Given the description of an element on the screen output the (x, y) to click on. 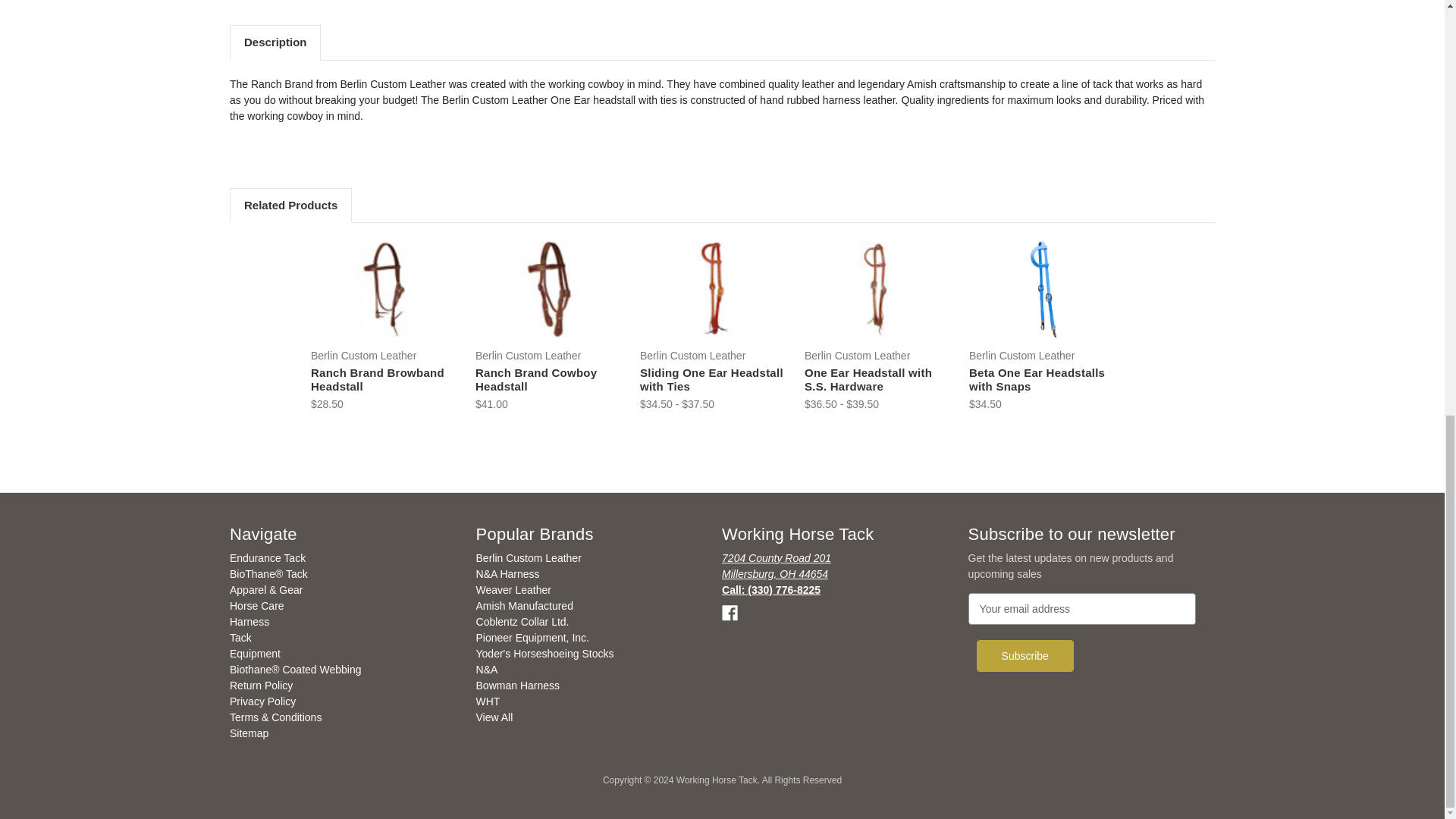
One Ear Headstall with S.S. Hardware (878, 288)
Subscribe (1025, 655)
Ranch Brand Cowboy Headstall (549, 288)
Sliding One Ear Headstall with Ties (714, 288)
Ranch Brand Browband Headstall (385, 288)
Beta One Ear Headstalls with Snaps (1043, 288)
